Given the description of an element on the screen output the (x, y) to click on. 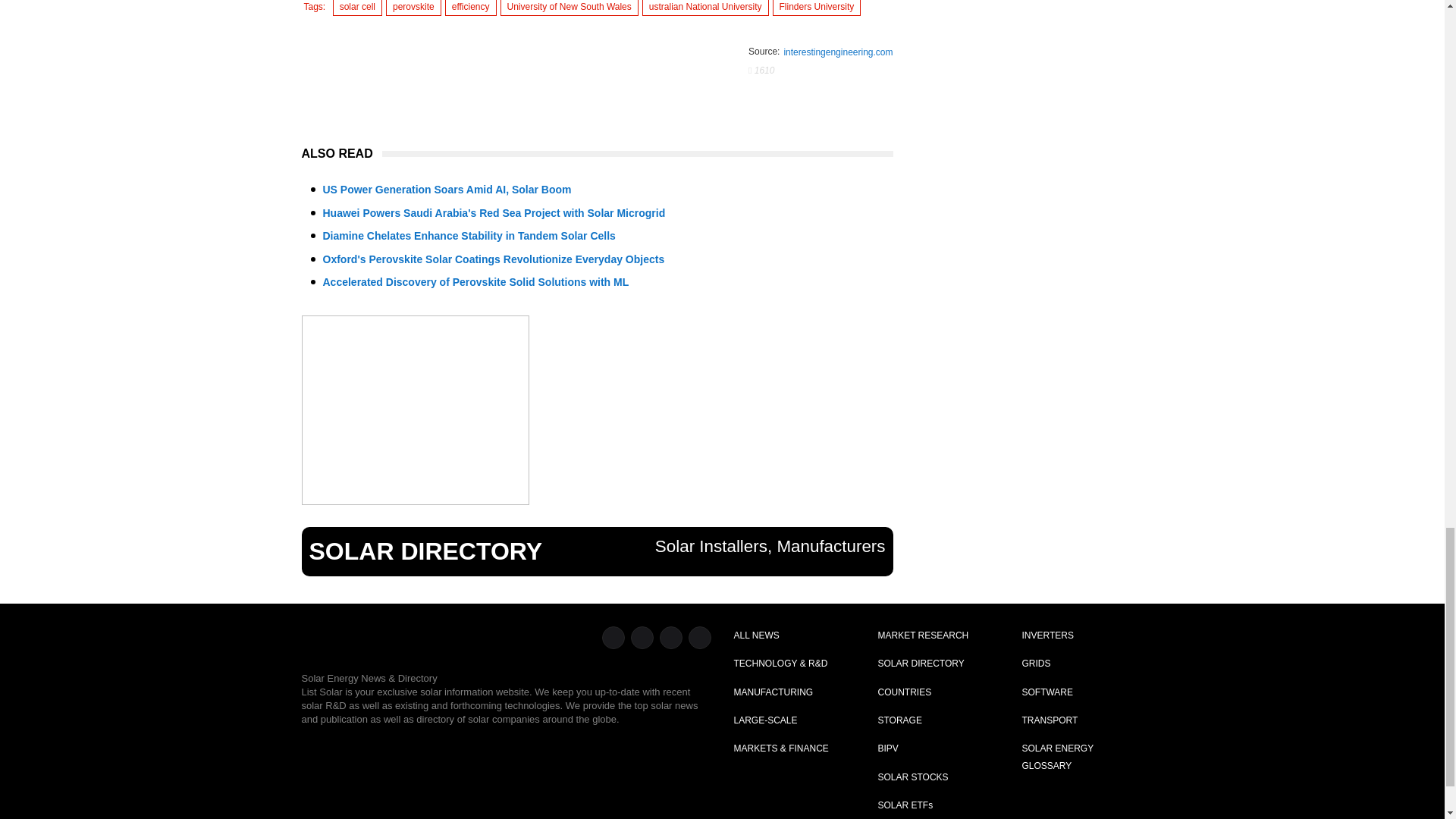
Accelerated Discovery of Perovskite Solid Solutions with ML (475, 282)
US Power Generation Soars Amid AI, Solar Boom (447, 189)
Diamine Chelates Enhance Stability in Tandem Solar Cells (469, 235)
